Given the description of an element on the screen output the (x, y) to click on. 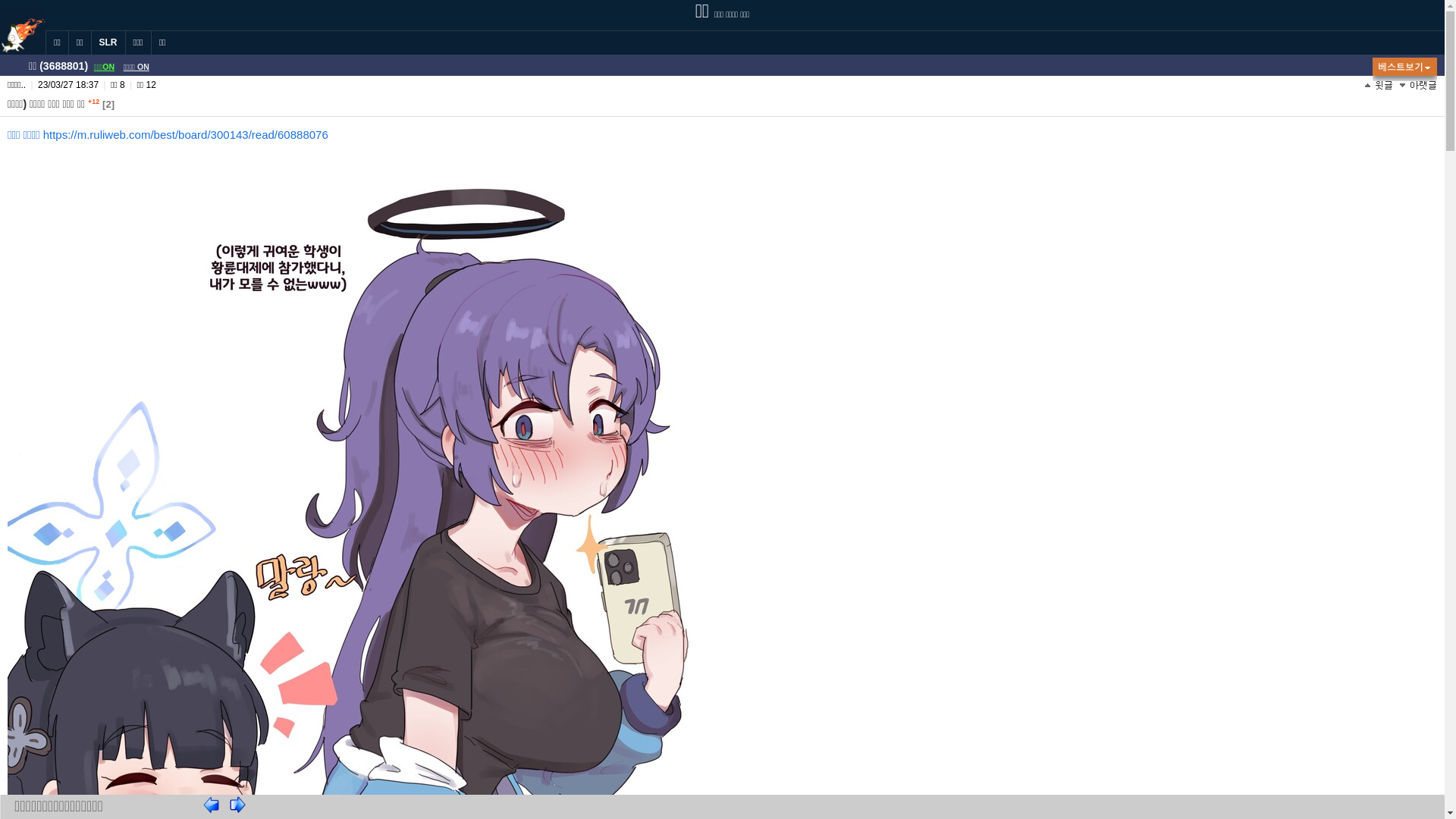
SLR Element type: text (108, 42)
